Given the description of an element on the screen output the (x, y) to click on. 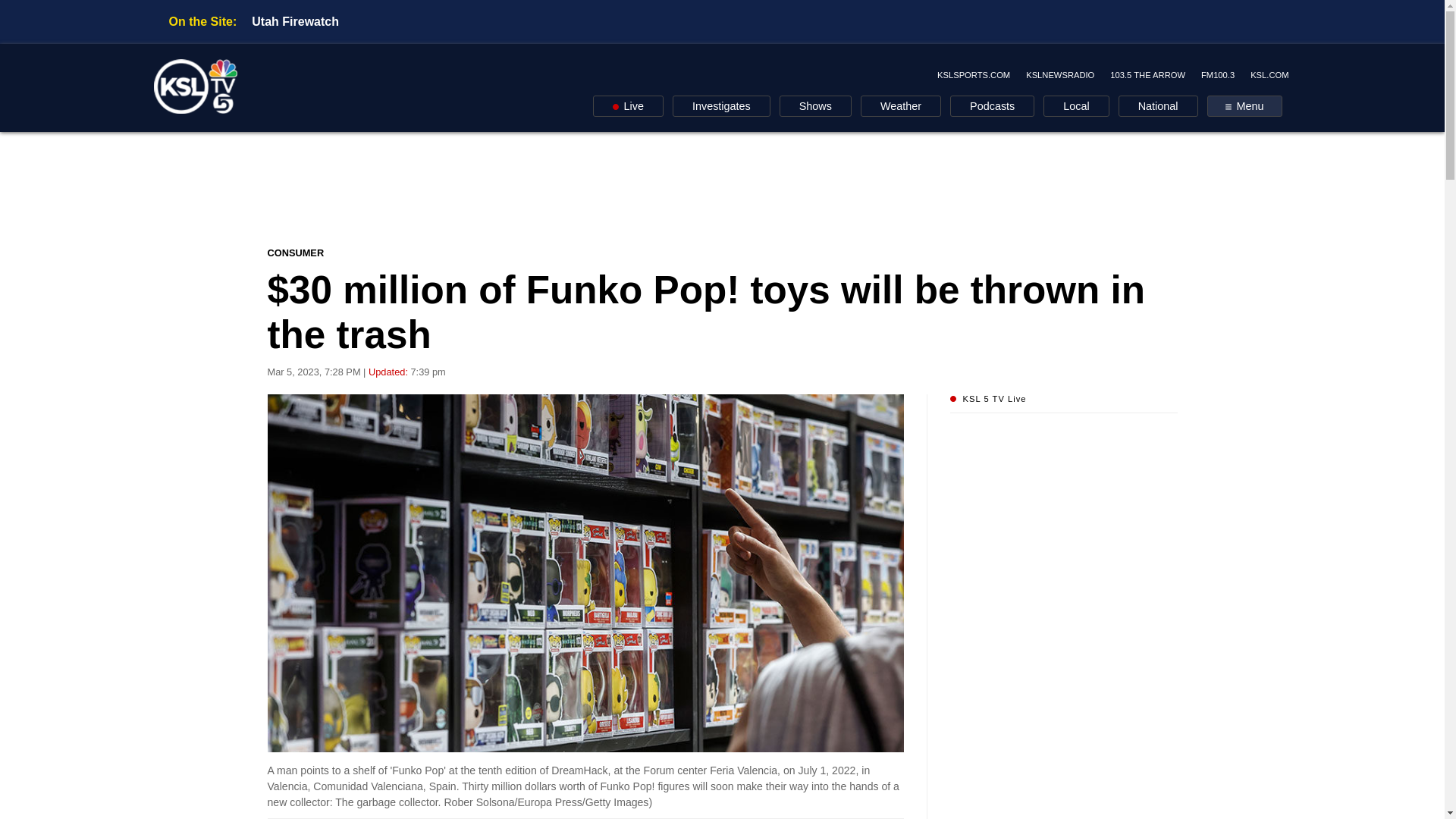
Utah Firewatch (295, 21)
